Given the description of an element on the screen output the (x, y) to click on. 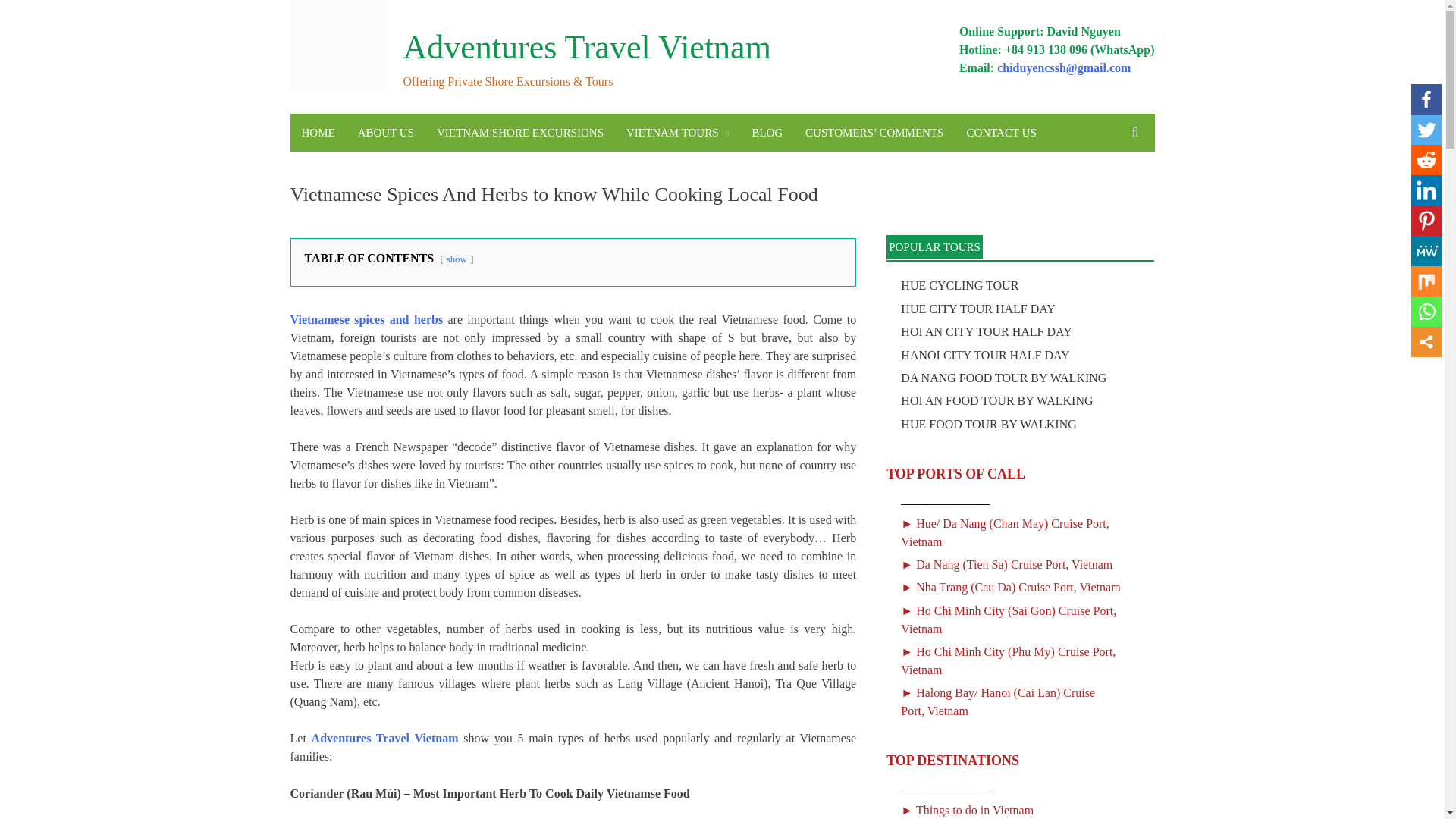
Twitter (1425, 129)
BLOG (766, 132)
Vietnamese spices and herbs (365, 318)
Facebook (1425, 99)
VIETNAM SHORE EXCURSIONS (519, 132)
Adventures Travel Vietnam (587, 47)
Adventures Travel Vietnam (384, 738)
ABOUT US (385, 132)
CONTACT US (1000, 132)
show (456, 258)
